Given the description of an element on the screen output the (x, y) to click on. 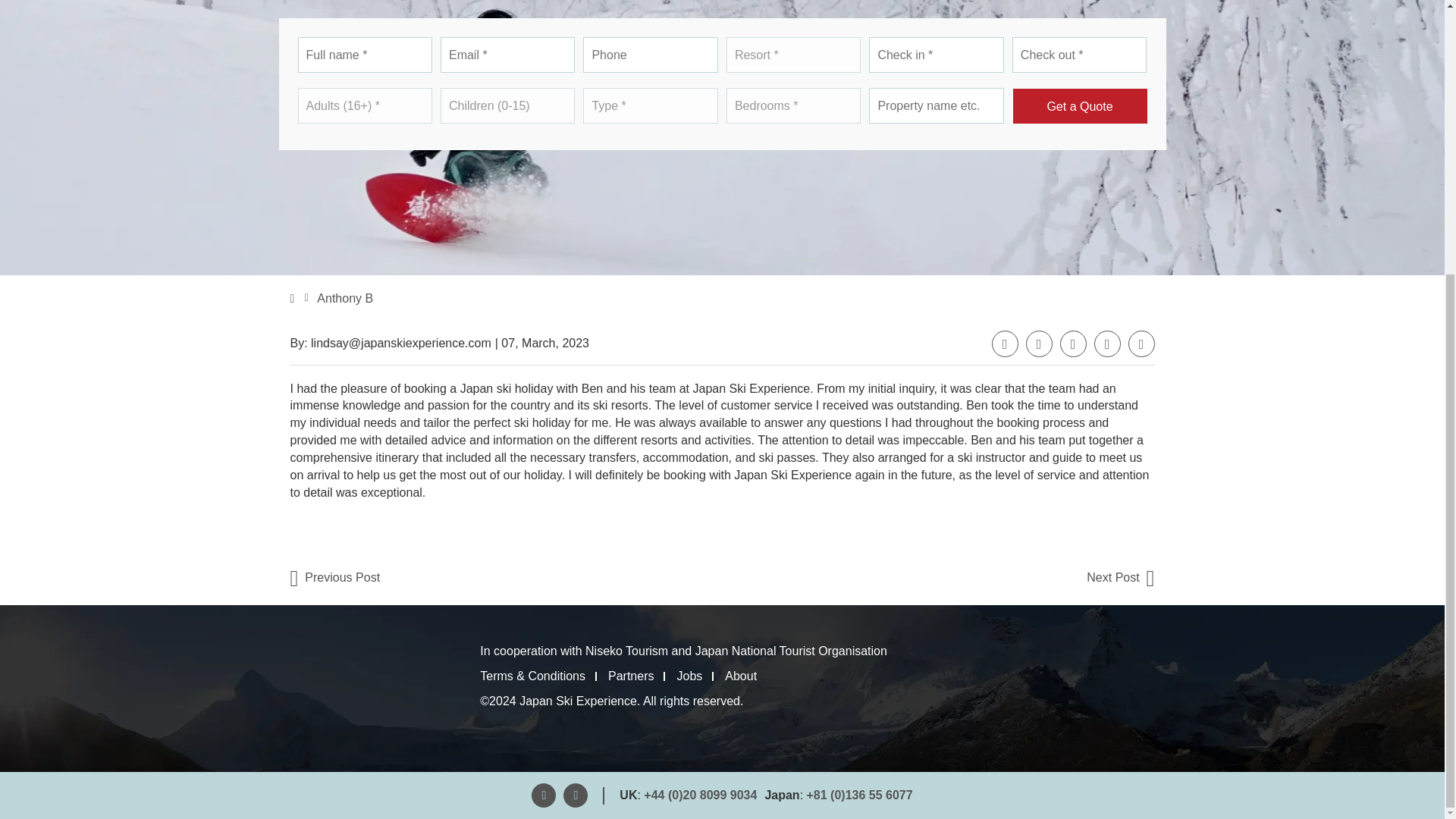
Ricky Y (1120, 578)
Get a Quote (1080, 105)
Lennard C (334, 578)
